Given the description of an element on the screen output the (x, y) to click on. 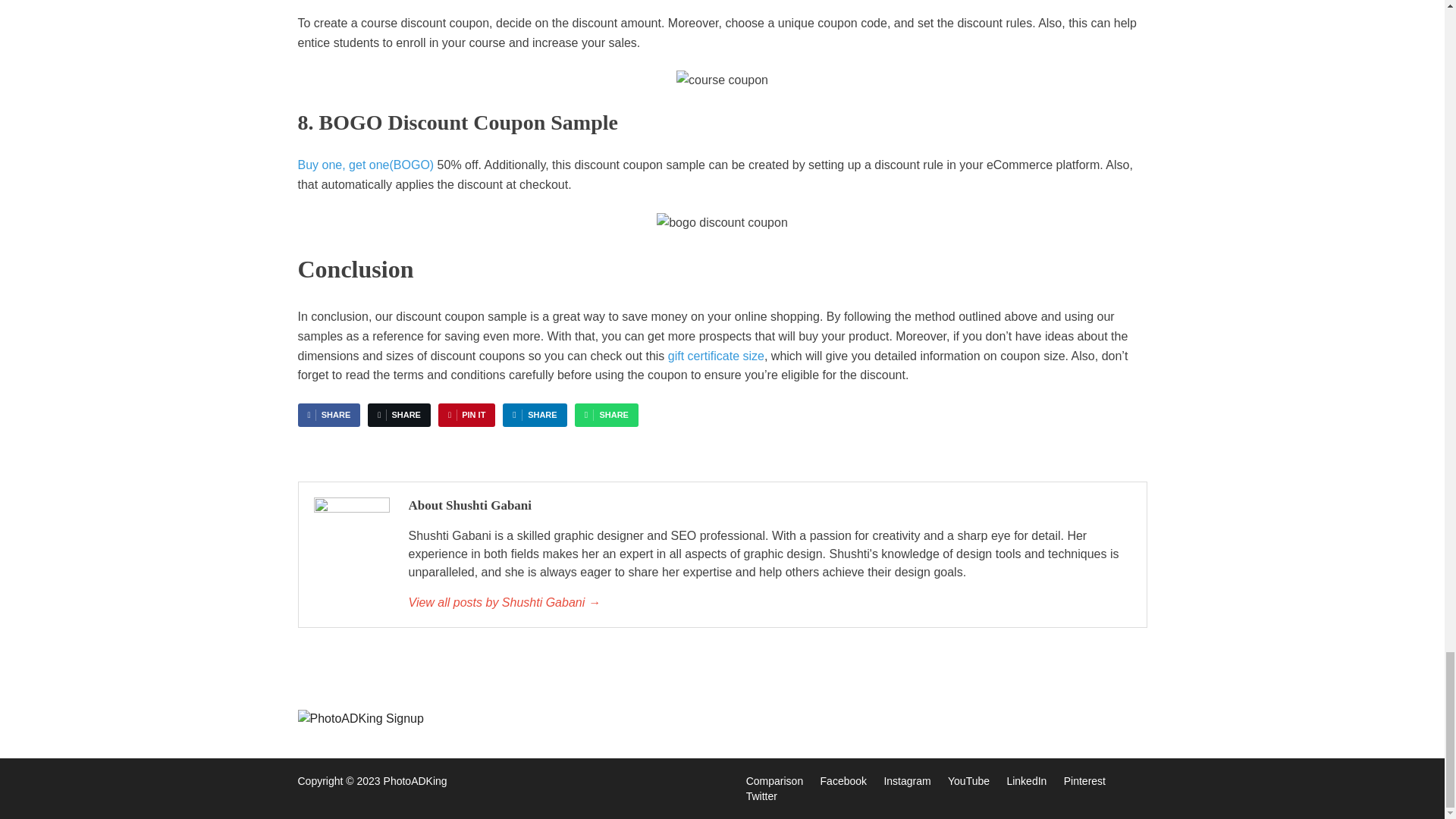
PIN IT (466, 414)
PhotoADKing (415, 780)
Comparison (773, 780)
gift certificate size (716, 355)
YouTube (968, 780)
SHARE (534, 414)
SHARE (328, 414)
SHARE (399, 414)
Shushti Gabani (769, 602)
Instagram (907, 780)
